Given the description of an element on the screen output the (x, y) to click on. 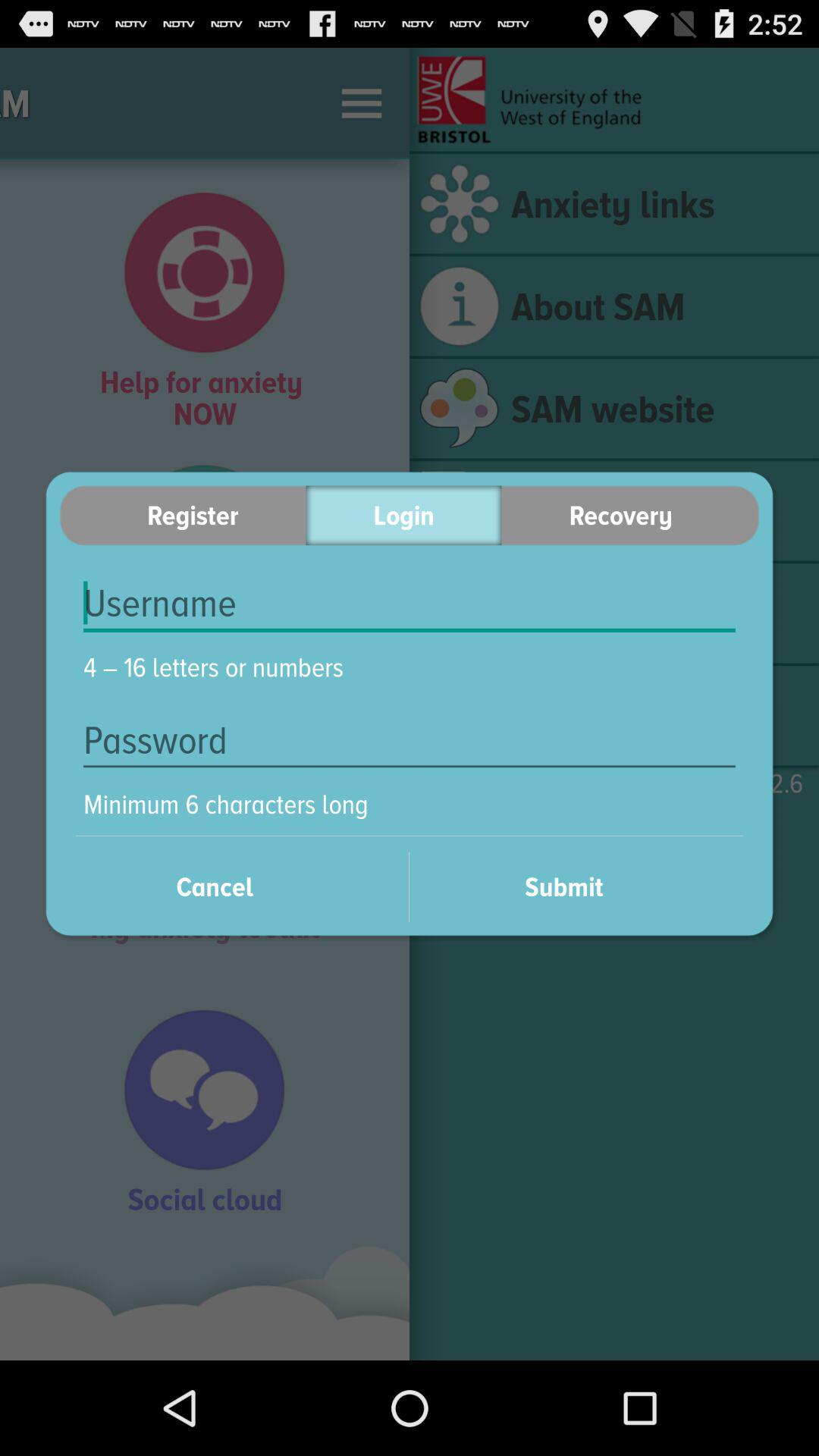
choose icon next to recovery (403, 515)
